Given the description of an element on the screen output the (x, y) to click on. 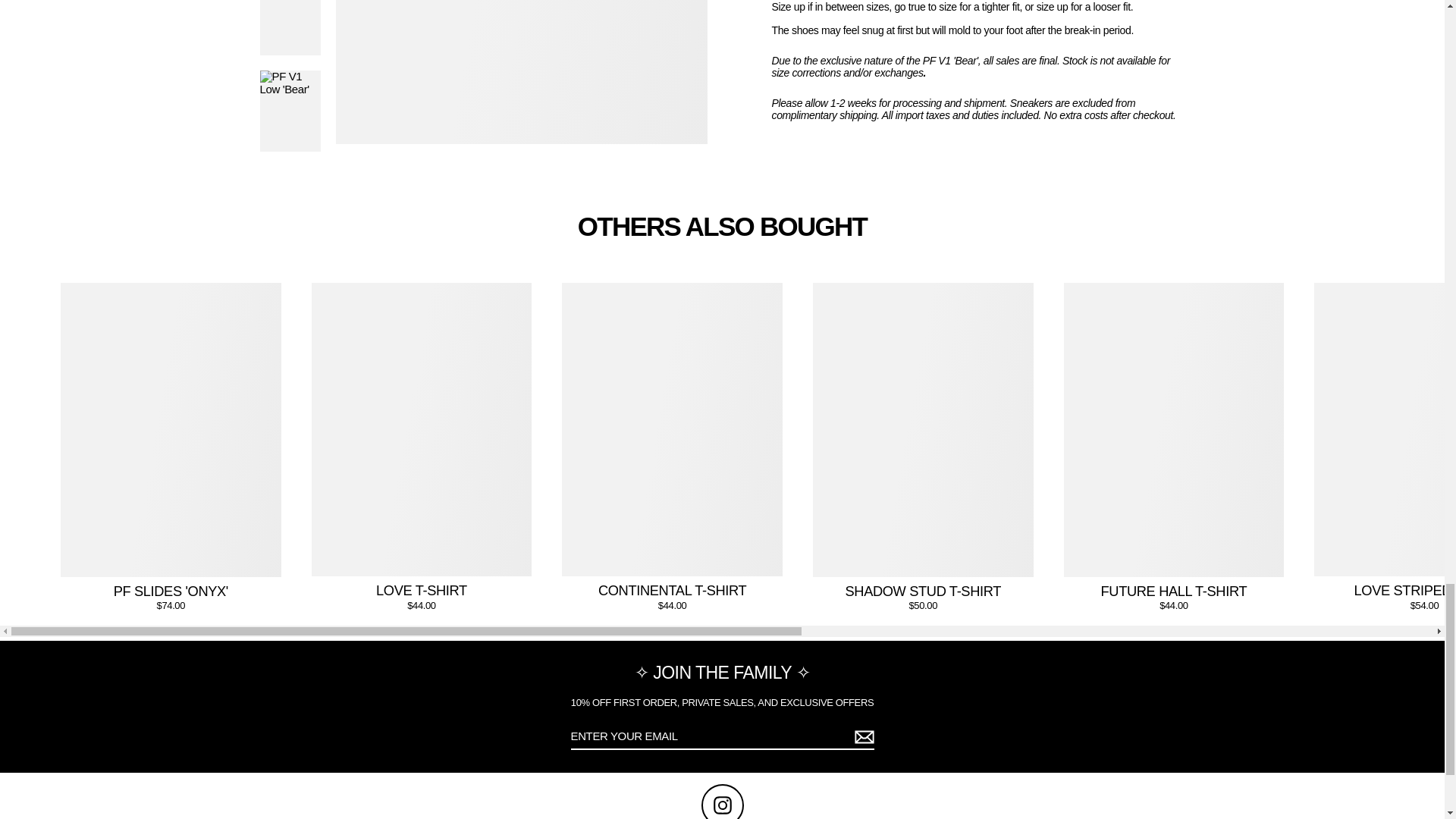
SUBMIT (860, 737)
